Given the description of an element on the screen output the (x, y) to click on. 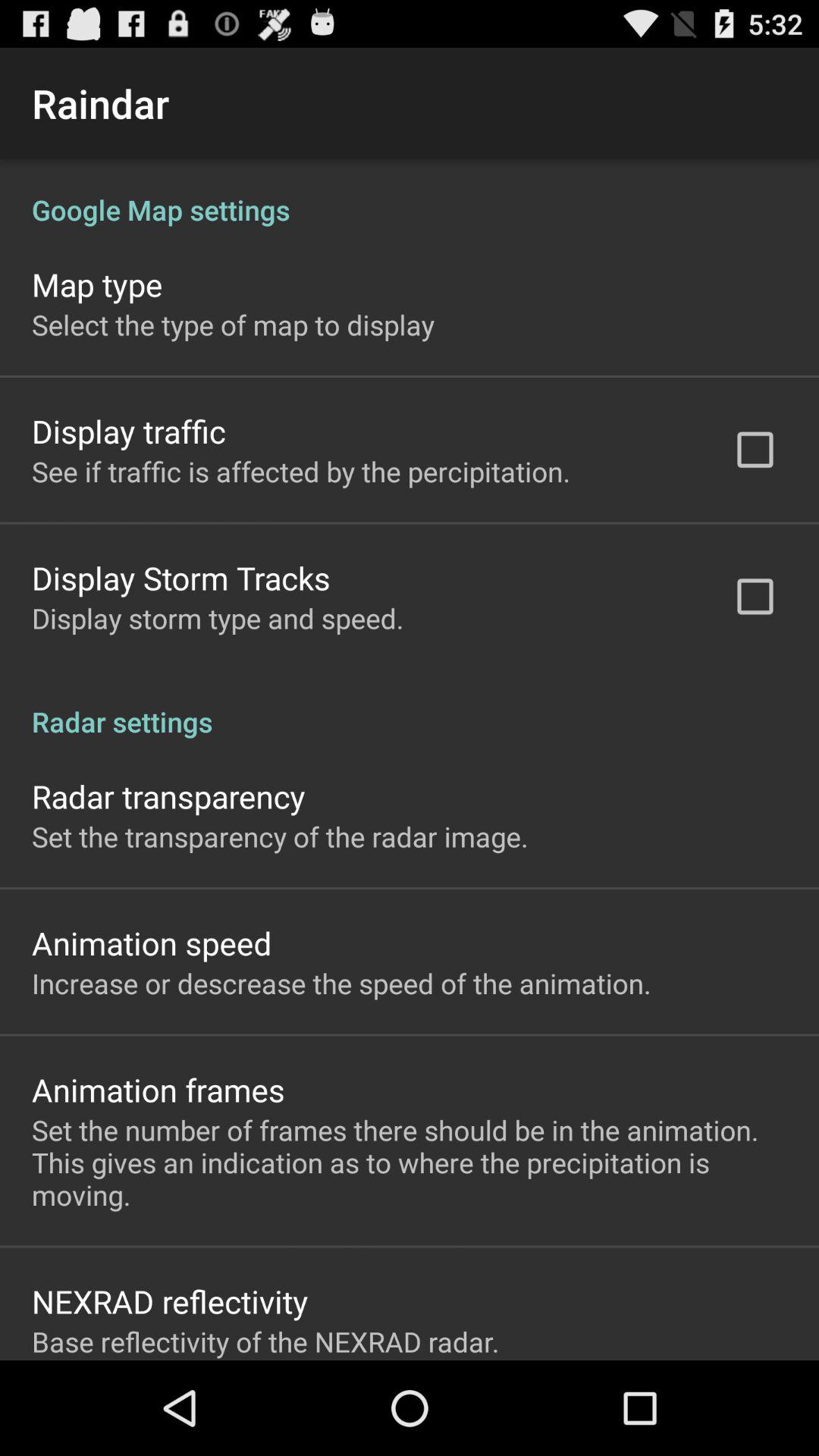
open item above see if traffic item (128, 430)
